Given the description of an element on the screen output the (x, y) to click on. 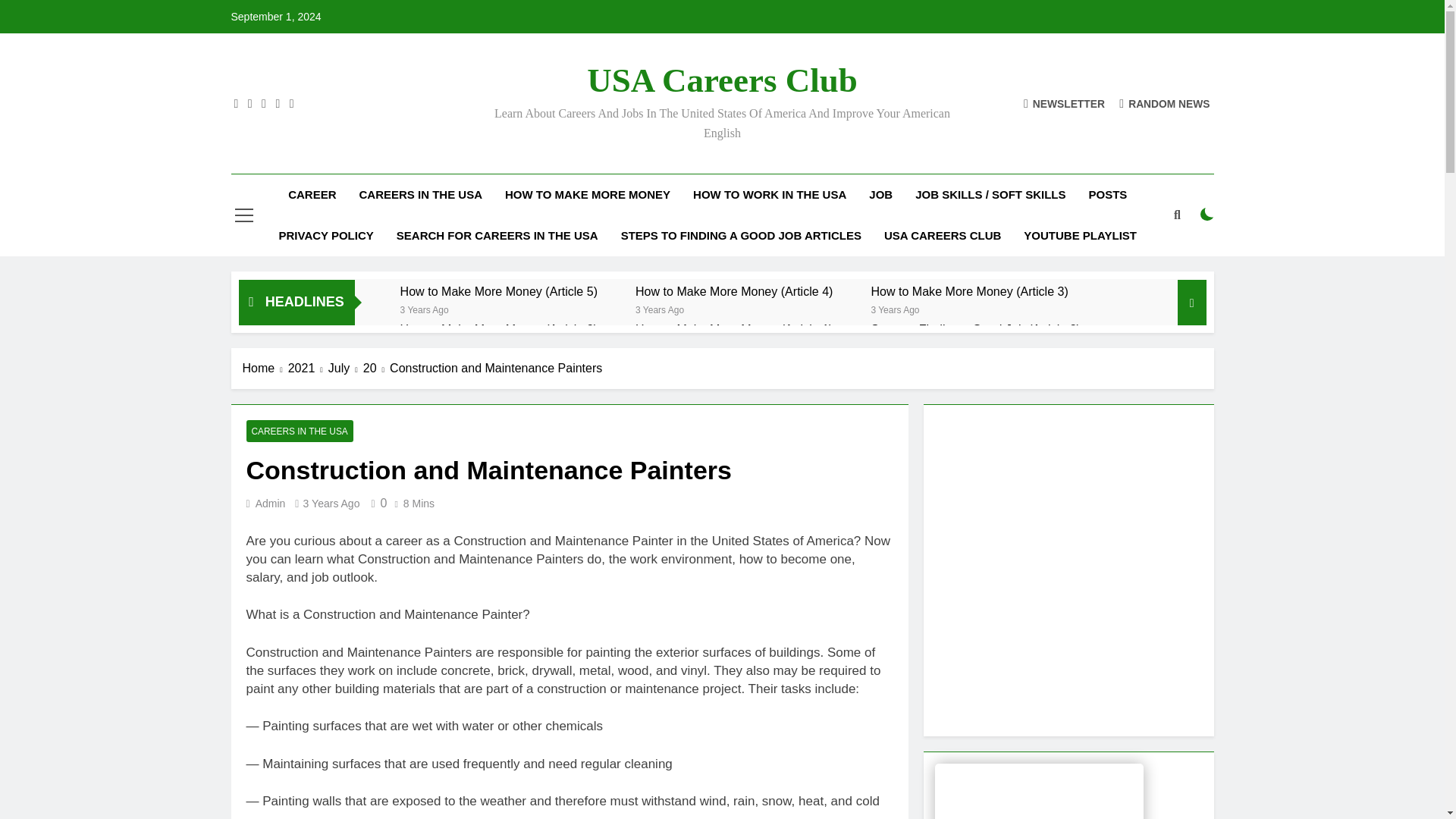
STEPS TO FINDING A GOOD JOB ARTICLES (741, 235)
CAREER (311, 194)
SEARCH FOR CAREERS IN THE USA (497, 235)
USA Careers Club (721, 80)
3 Years Ago (424, 308)
HOW TO WORK IN THE USA (769, 194)
USA CAREERS CLUB (941, 235)
JOB (880, 194)
PRIVACY POLICY (325, 235)
POSTS (1107, 194)
